Given the description of an element on the screen output the (x, y) to click on. 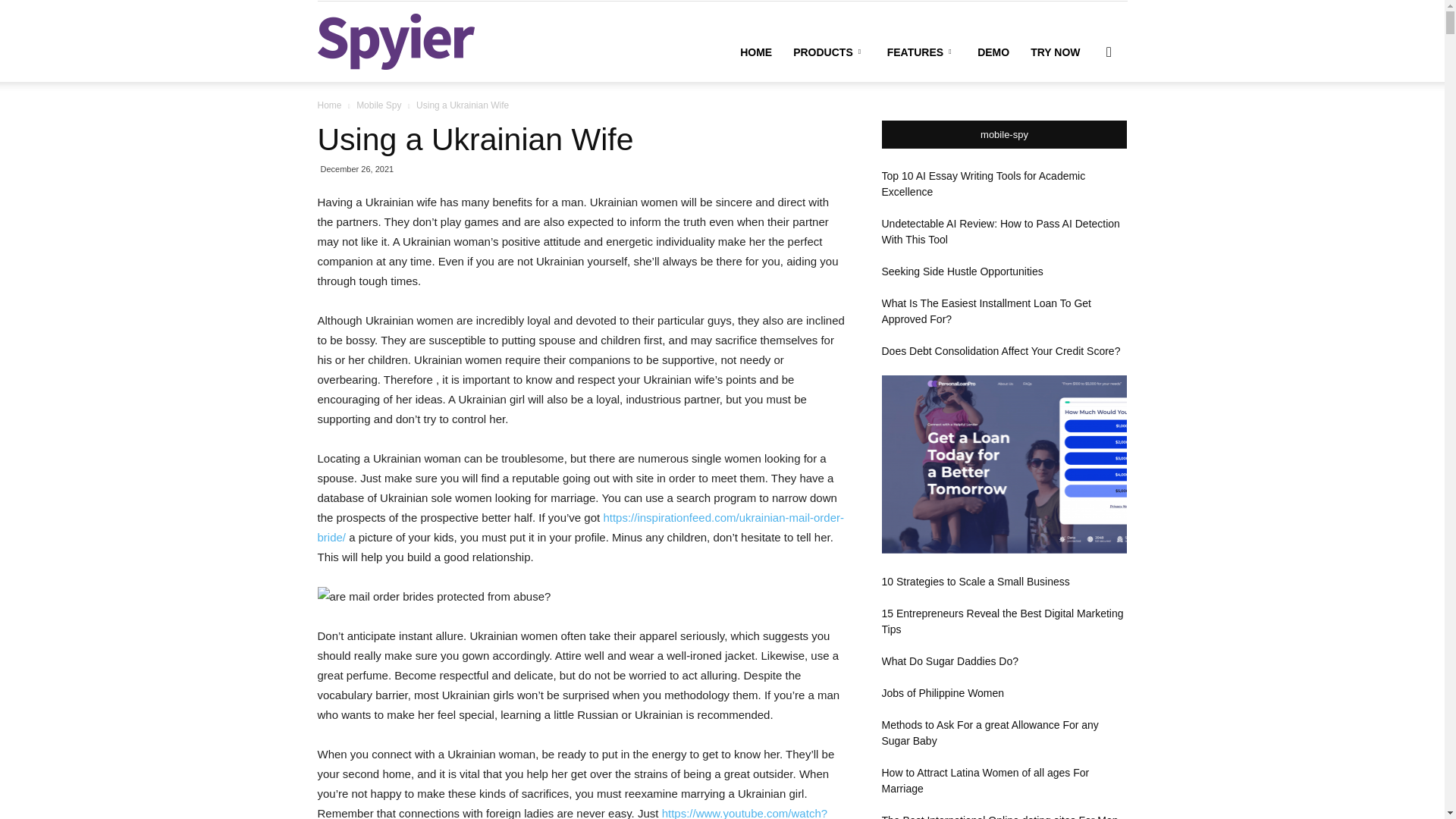
PRODUCTS (829, 51)
Search (1085, 124)
DEMO (993, 51)
TRY NOW (1055, 51)
Spyier (395, 41)
FEATURES (921, 51)
HOME (756, 51)
View all posts in Mobile Spy (378, 104)
Mobile Spy (378, 104)
Home (328, 104)
spyier (395, 41)
